Given the description of an element on the screen output the (x, y) to click on. 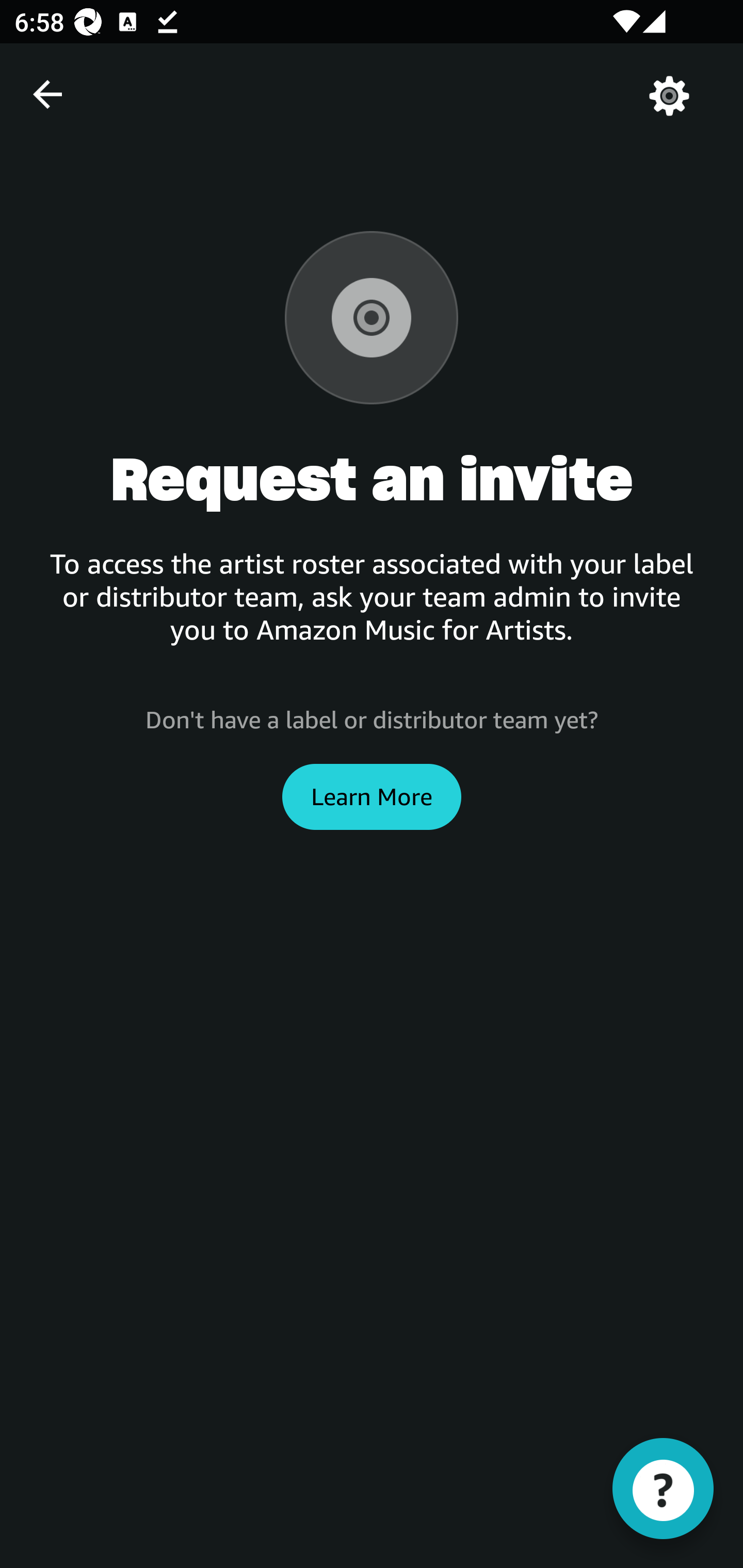
Learn more button Learn More (371, 796)
